Given the description of an element on the screen output the (x, y) to click on. 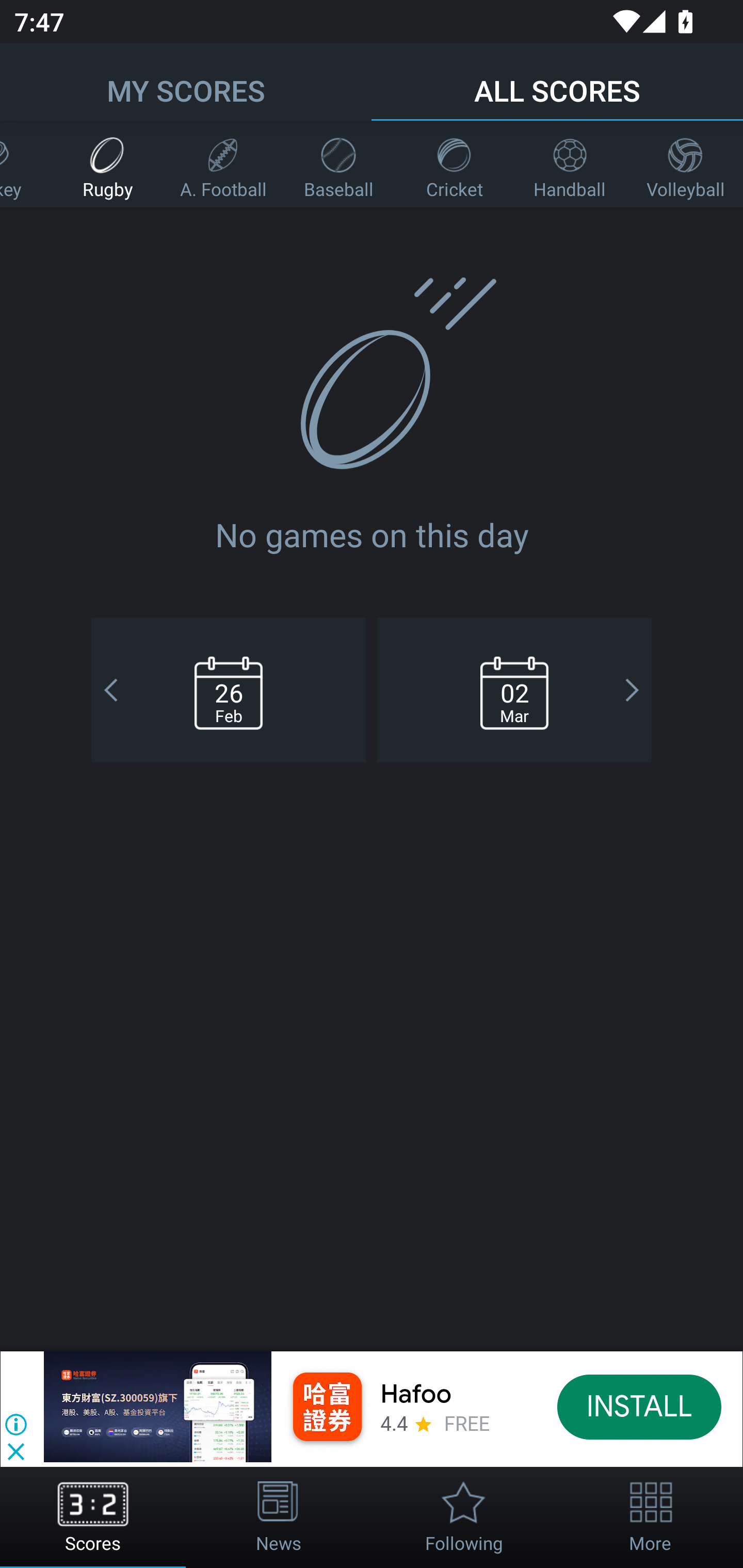
MY SCORES (185, 81)
ALL SCORES (557, 81)
Rugby (106, 163)
A. Football (222, 163)
Baseball (338, 163)
Cricket (453, 163)
Handball (569, 163)
Volleyball (685, 163)
Feb 26 (228, 689)
Mar 02 (514, 689)
INSTALL (639, 1406)
Hafoo (416, 1394)
News (278, 1517)
Following (464, 1517)
More (650, 1517)
